Given the description of an element on the screen output the (x, y) to click on. 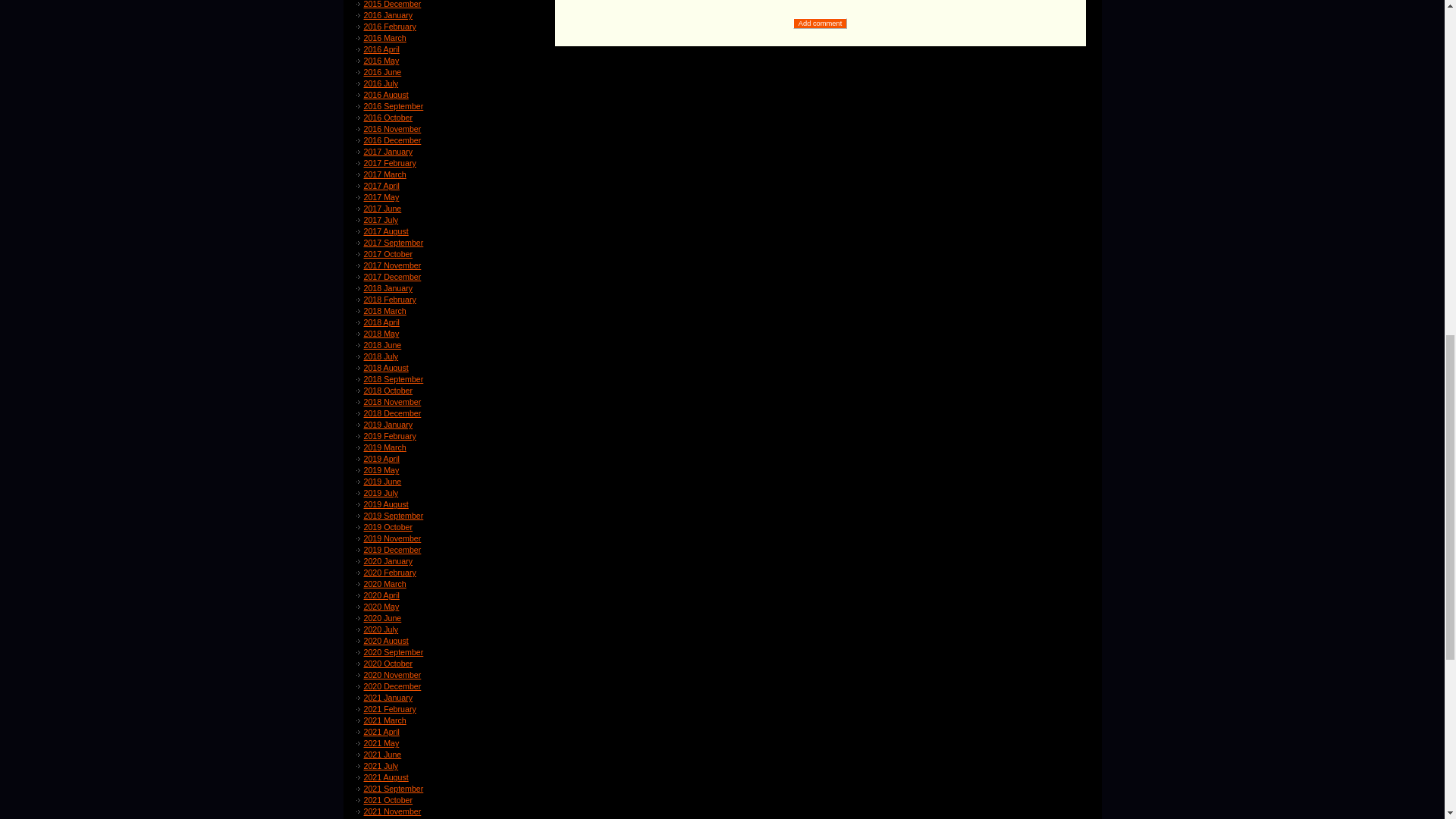
Add comment (820, 23)
